Given the description of an element on the screen output the (x, y) to click on. 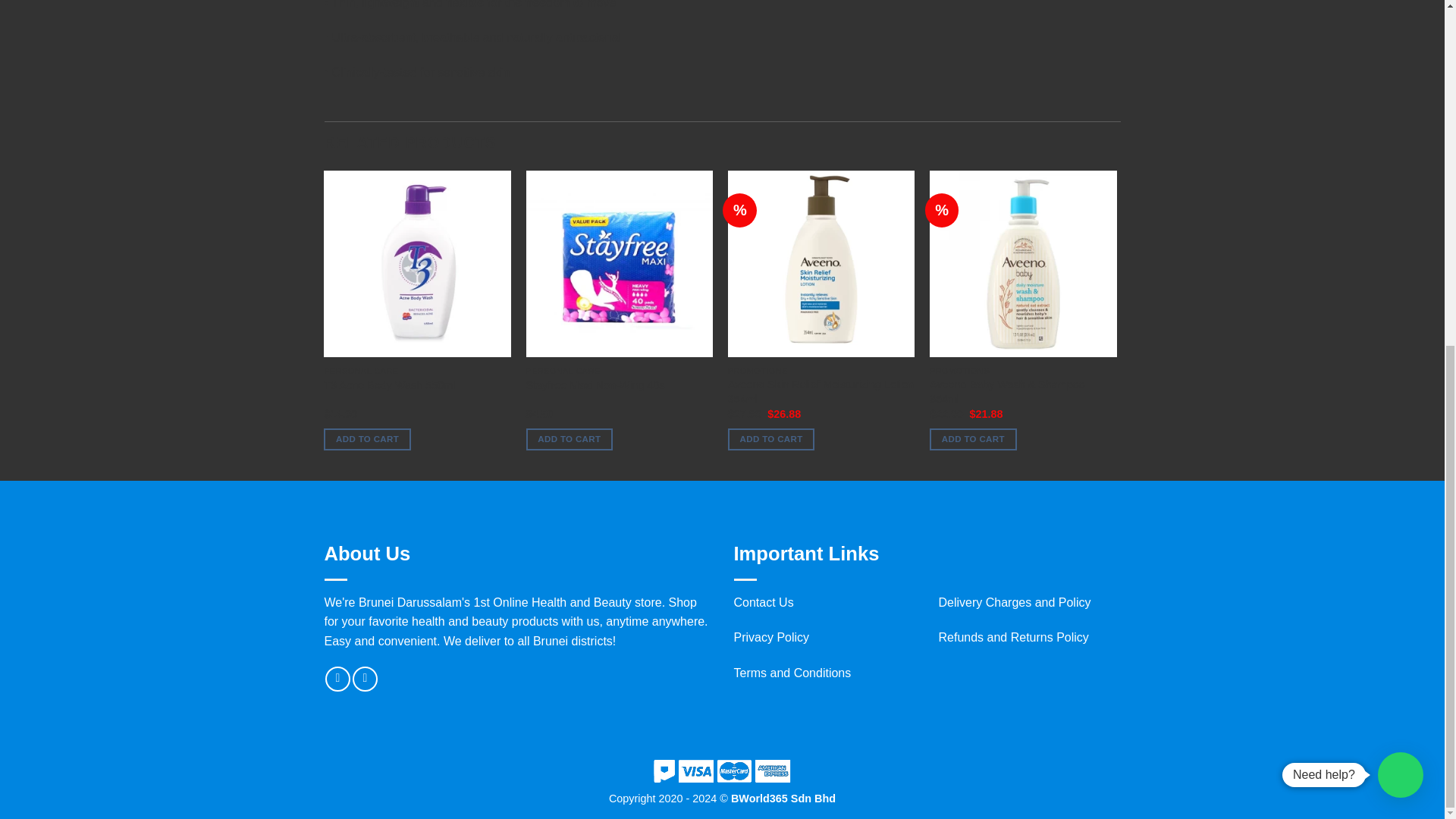
Follow on Instagram (364, 678)
Follow on Facebook (337, 678)
